Given the description of an element on the screen output the (x, y) to click on. 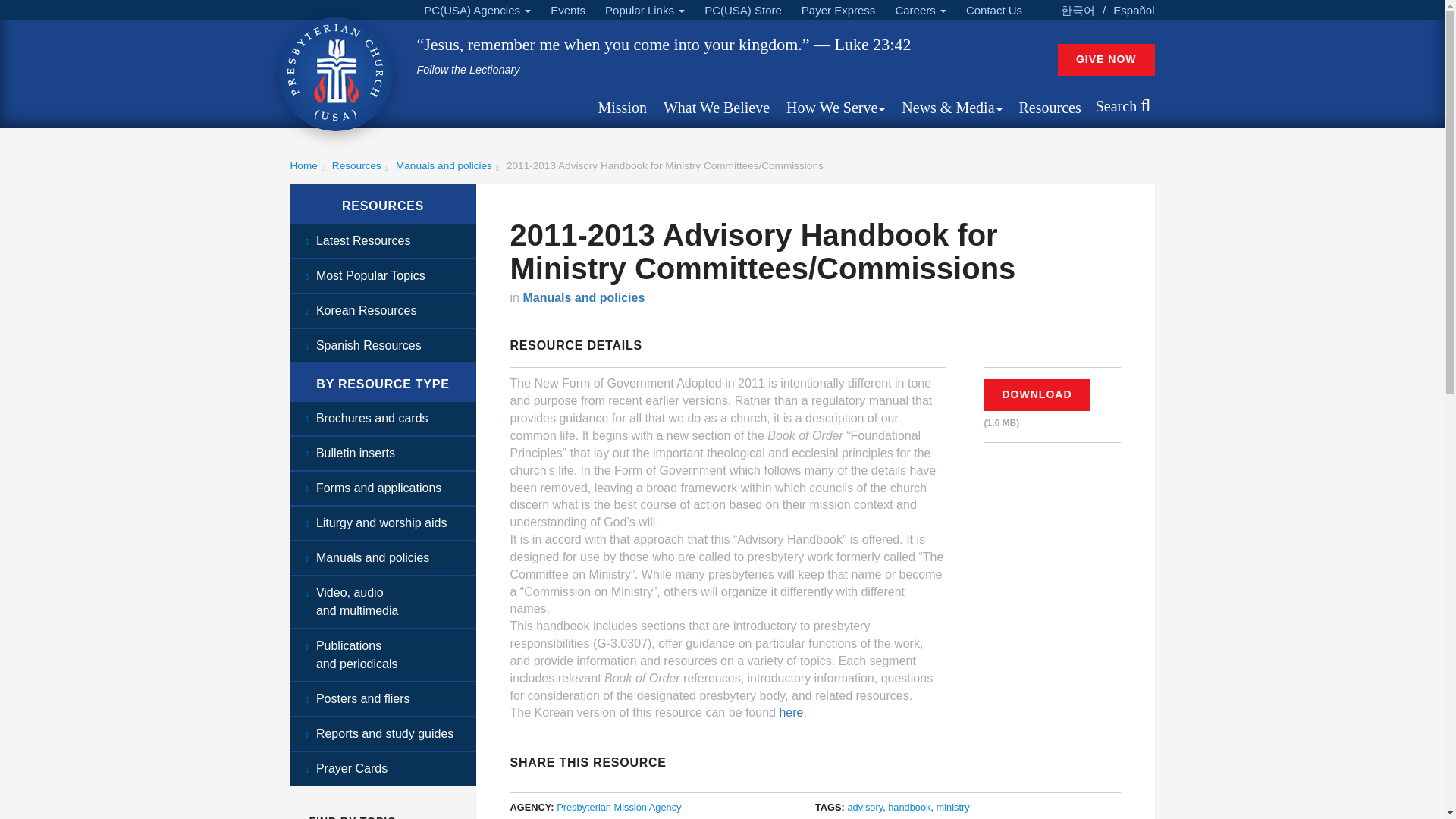
Popular Links (644, 10)
Payer Express (838, 10)
Careers (920, 10)
Contact Us (993, 10)
Events (567, 10)
